Given the description of an element on the screen output the (x, y) to click on. 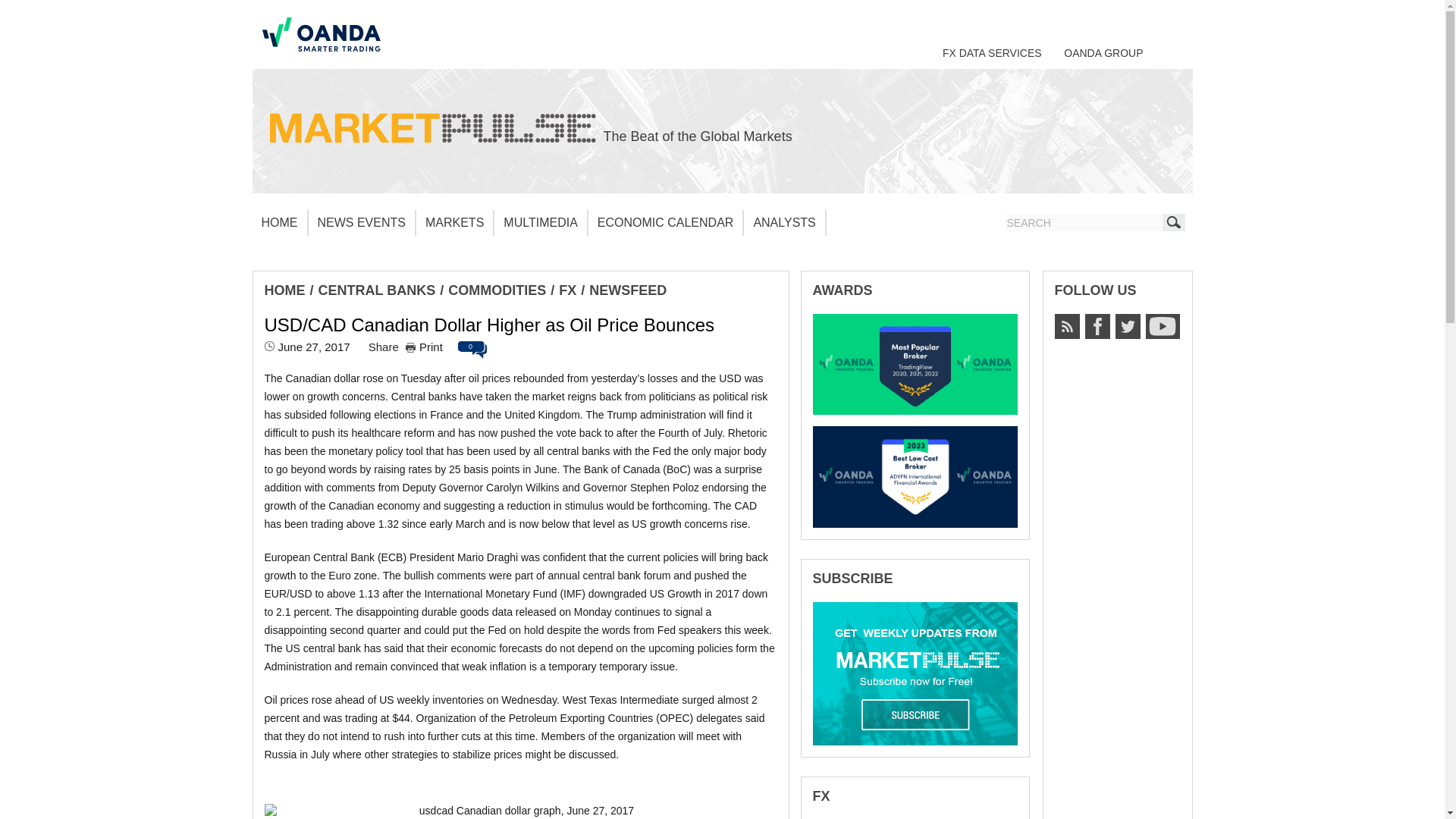
Twitter (1127, 326)
Find (1173, 221)
HOME (279, 222)
ANALYSTS (784, 222)
Facebook (1096, 326)
Share (383, 346)
HOME (283, 290)
NEWSFEED (627, 290)
Youtube (1161, 326)
MULTIMEDIA (540, 222)
RSS (1066, 326)
CENTRAL BANKS (376, 290)
COMMODITIES (497, 290)
OANDA GROUP (1103, 52)
Print (424, 346)
